Given the description of an element on the screen output the (x, y) to click on. 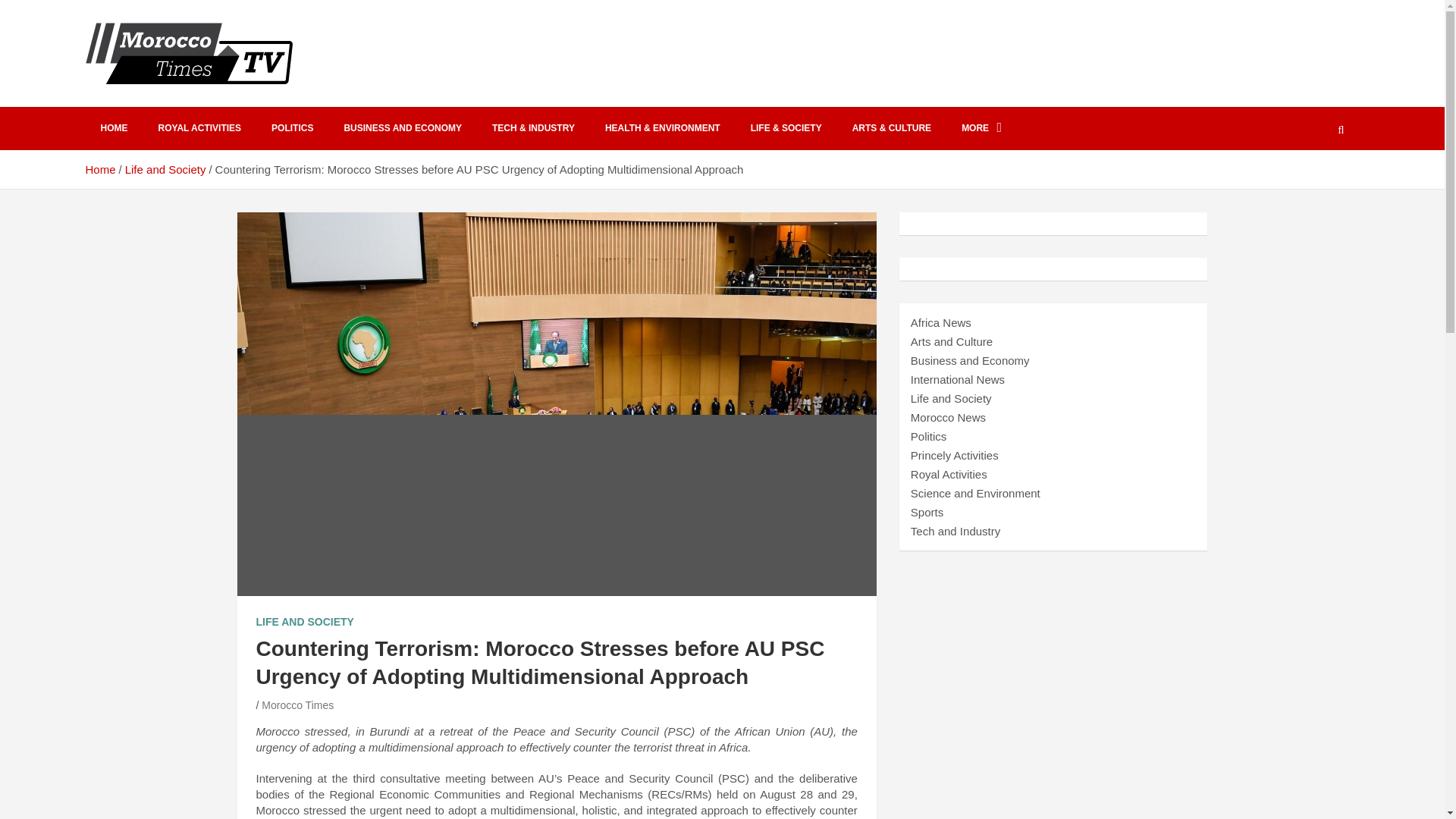
Morocco times TV (215, 103)
Princely Activities (954, 454)
Life and Society (165, 169)
ROYAL ACTIVITIES (199, 128)
Politics (929, 436)
Morocco Times (297, 705)
Business and Economy (970, 359)
Arts and Culture (951, 341)
HOME (113, 128)
Life and Society (951, 398)
